Given the description of an element on the screen output the (x, y) to click on. 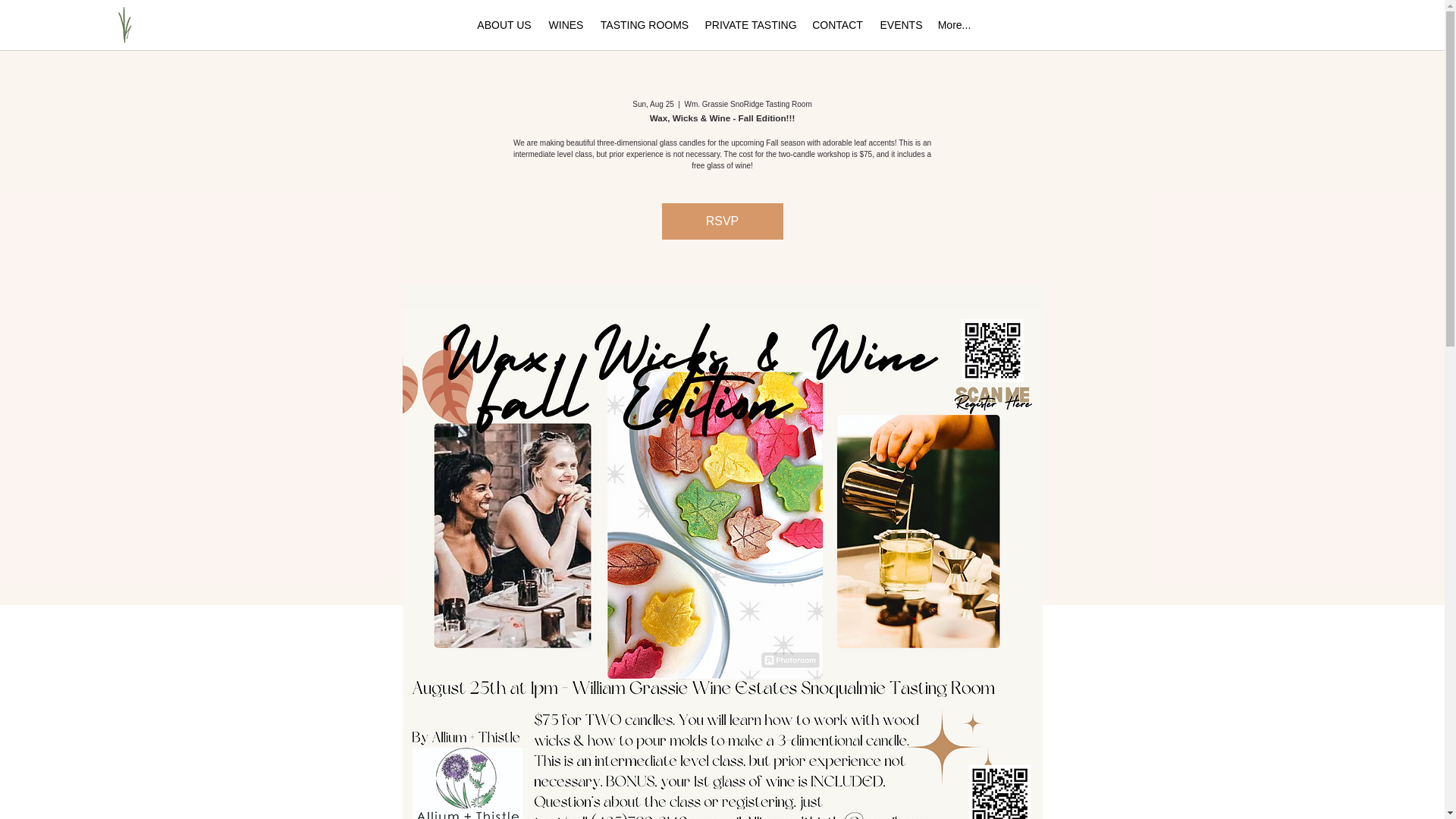
TASTING ROOMS (644, 24)
RSVP (722, 221)
PRIVATE TASTING (750, 24)
ABOUT US (504, 24)
EVENTS (900, 24)
WINES (565, 24)
CONTACT (837, 24)
